Given the description of an element on the screen output the (x, y) to click on. 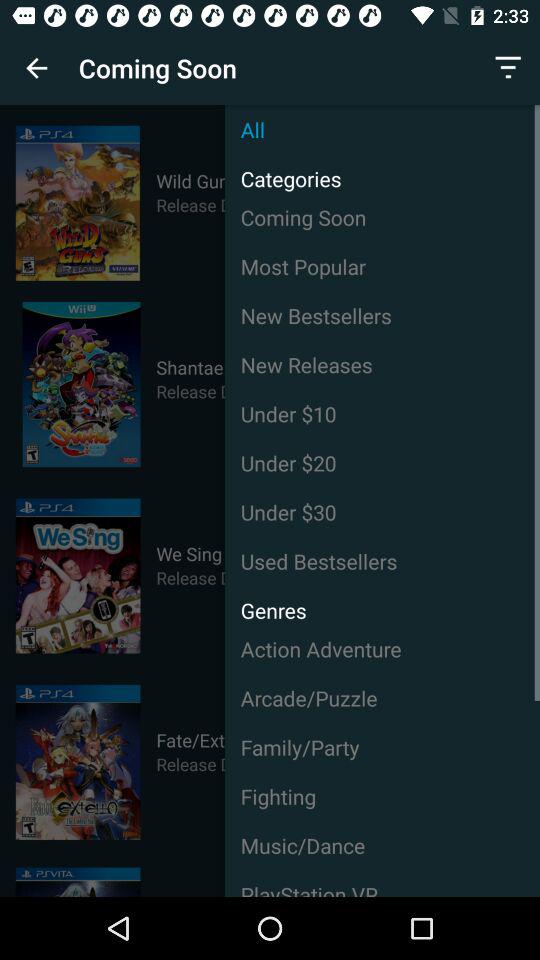
choose the item above arcade/puzzle (382, 648)
